Given the description of an element on the screen output the (x, y) to click on. 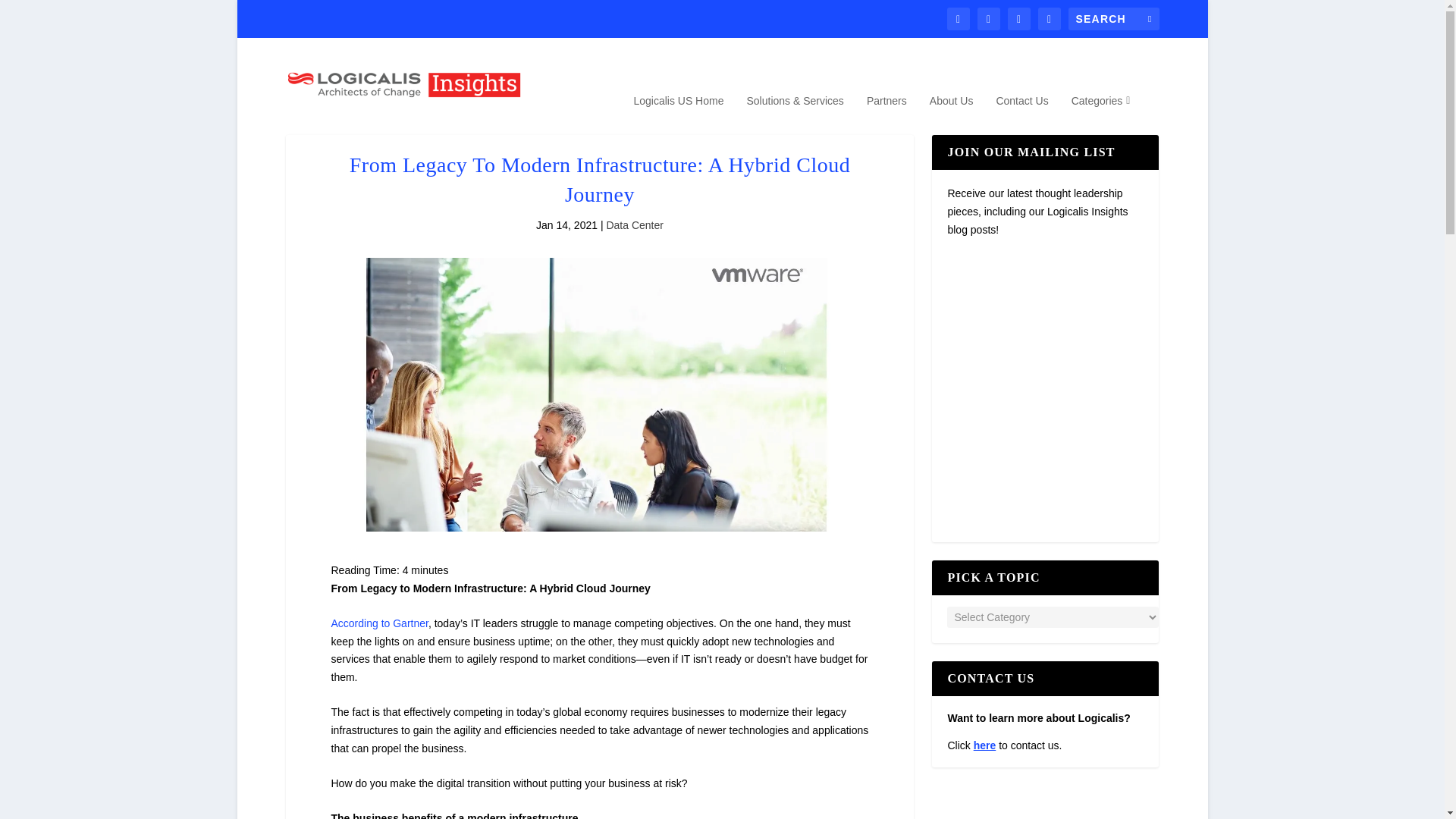
Logicalis US Home (678, 121)
